Given the description of an element on the screen output the (x, y) to click on. 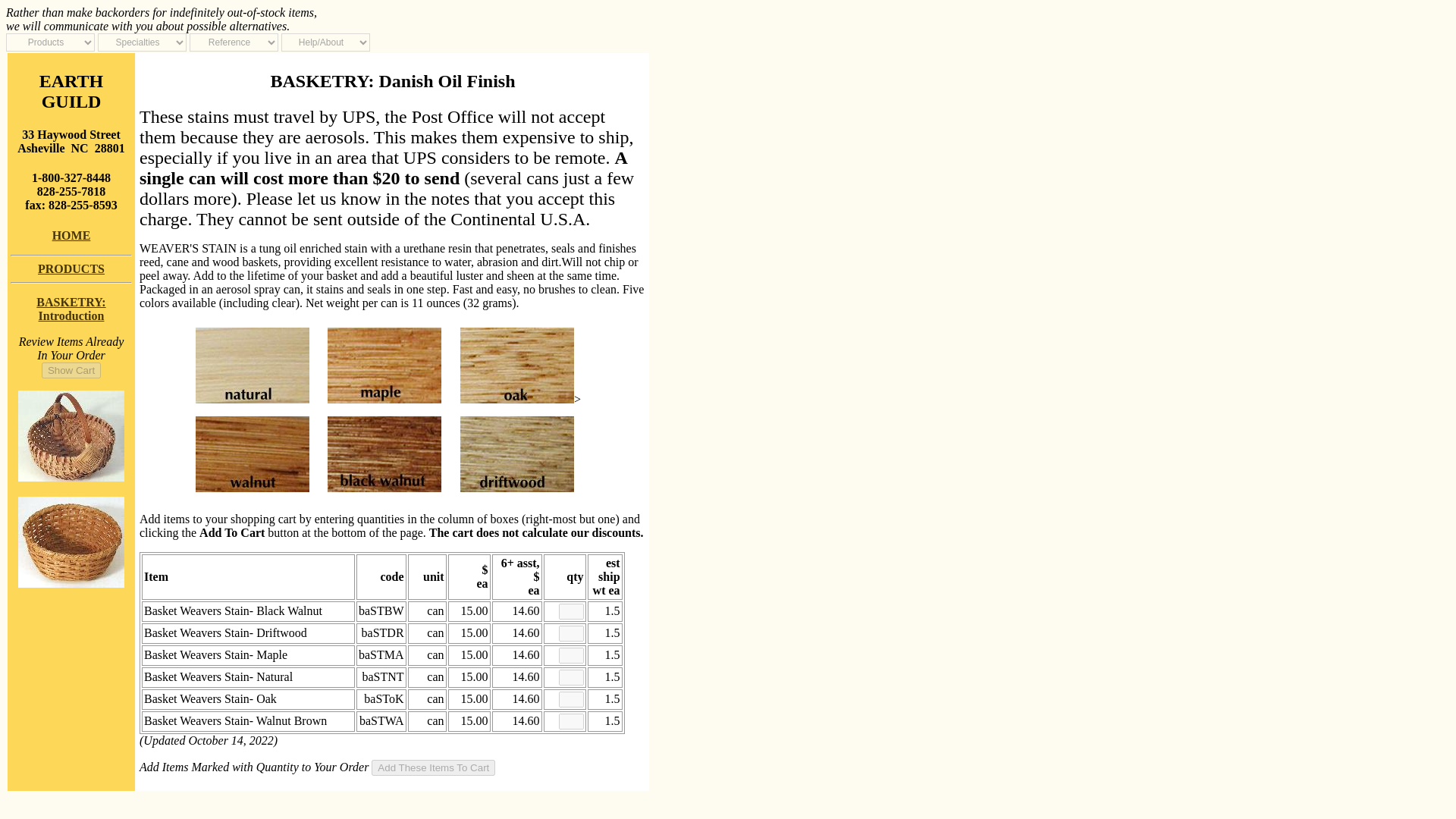
HOME (70, 308)
PRODUCTS (71, 235)
Show Cart (70, 268)
Add These Items To Cart (71, 370)
Show Cart (433, 767)
Add These Items To Cart (71, 370)
